Given the description of an element on the screen output the (x, y) to click on. 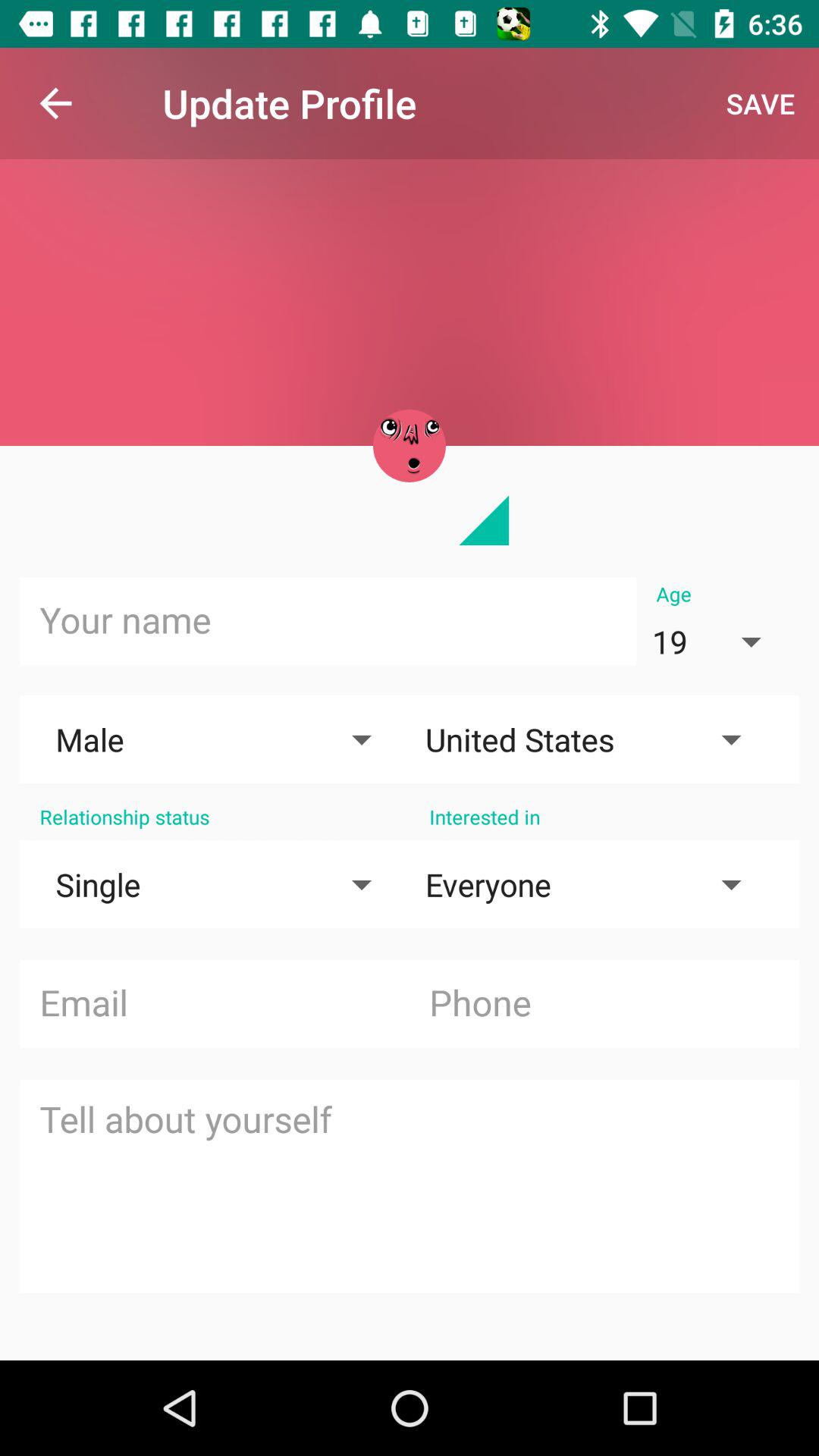
name input (327, 621)
